Given the description of an element on the screen output the (x, y) to click on. 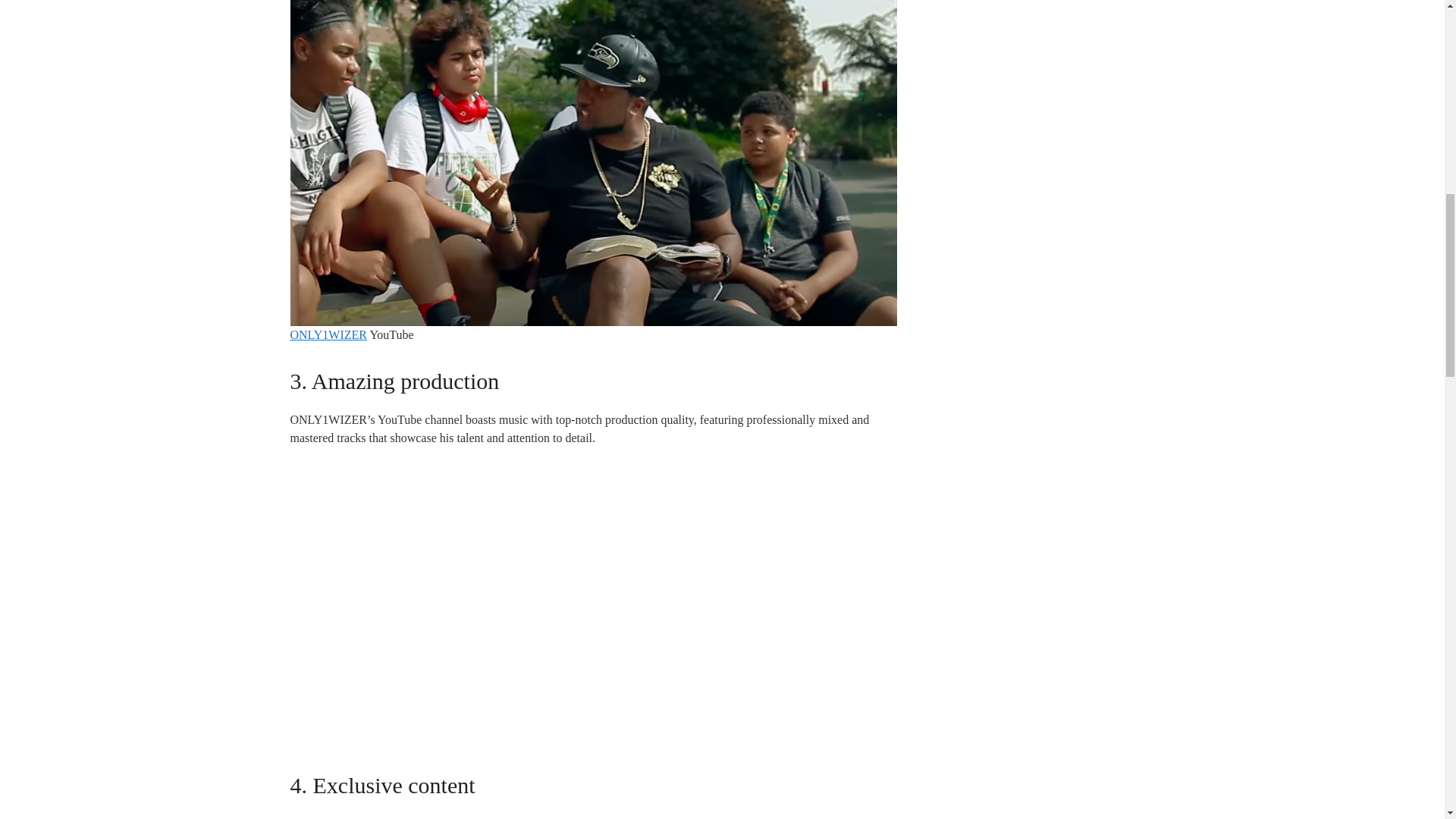
ONLY1WIZER (327, 334)
